Given the description of an element on the screen output the (x, y) to click on. 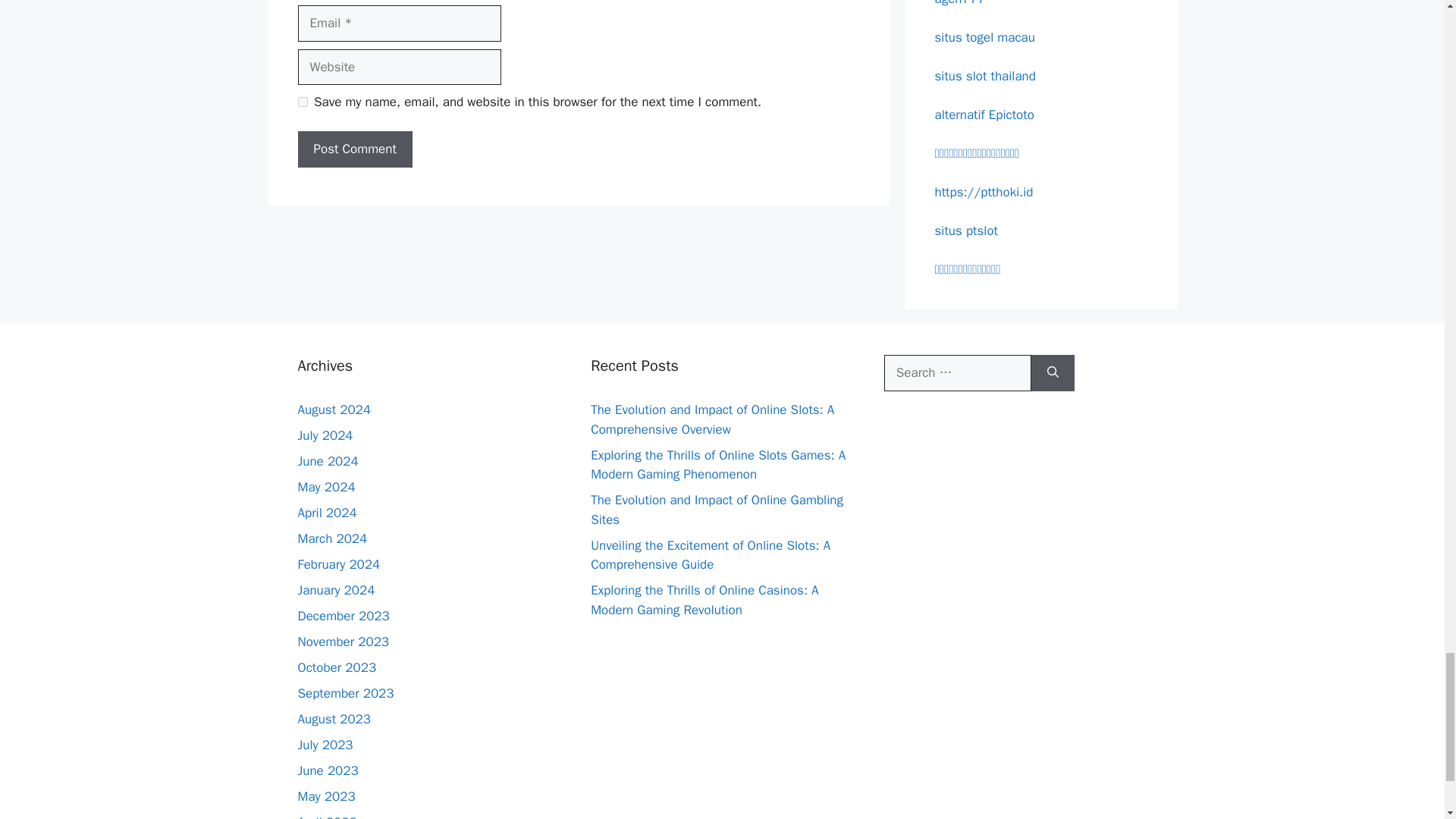
Post Comment (354, 149)
Search for: (956, 372)
Post Comment (354, 149)
yes (302, 102)
